Given the description of an element on the screen output the (x, y) to click on. 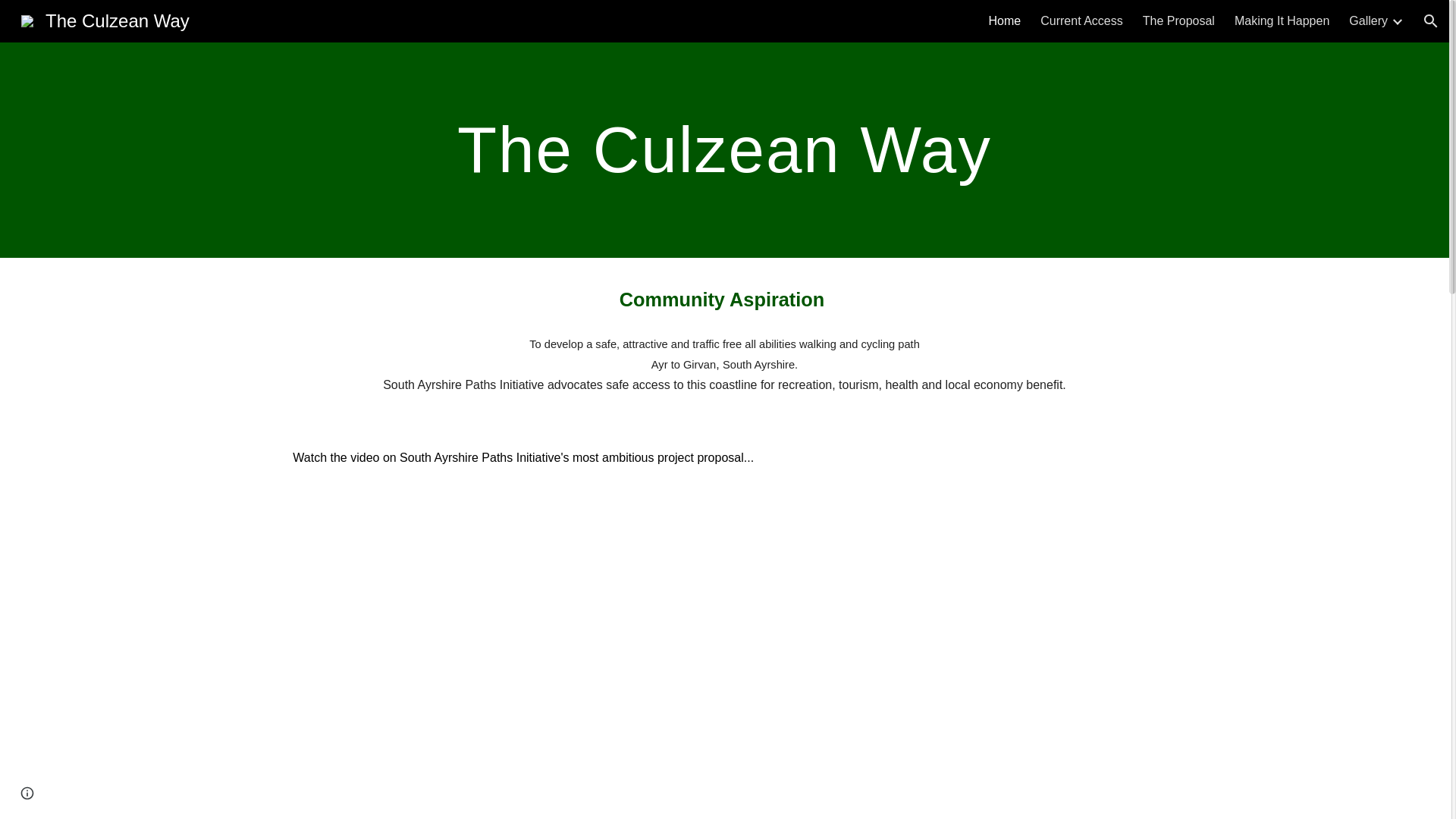
Home (1005, 20)
Making It Happen (1281, 20)
The Culzean Way (104, 19)
Gallery (1368, 20)
Current Access (1081, 20)
The Proposal (1178, 20)
